Given the description of an element on the screen output the (x, y) to click on. 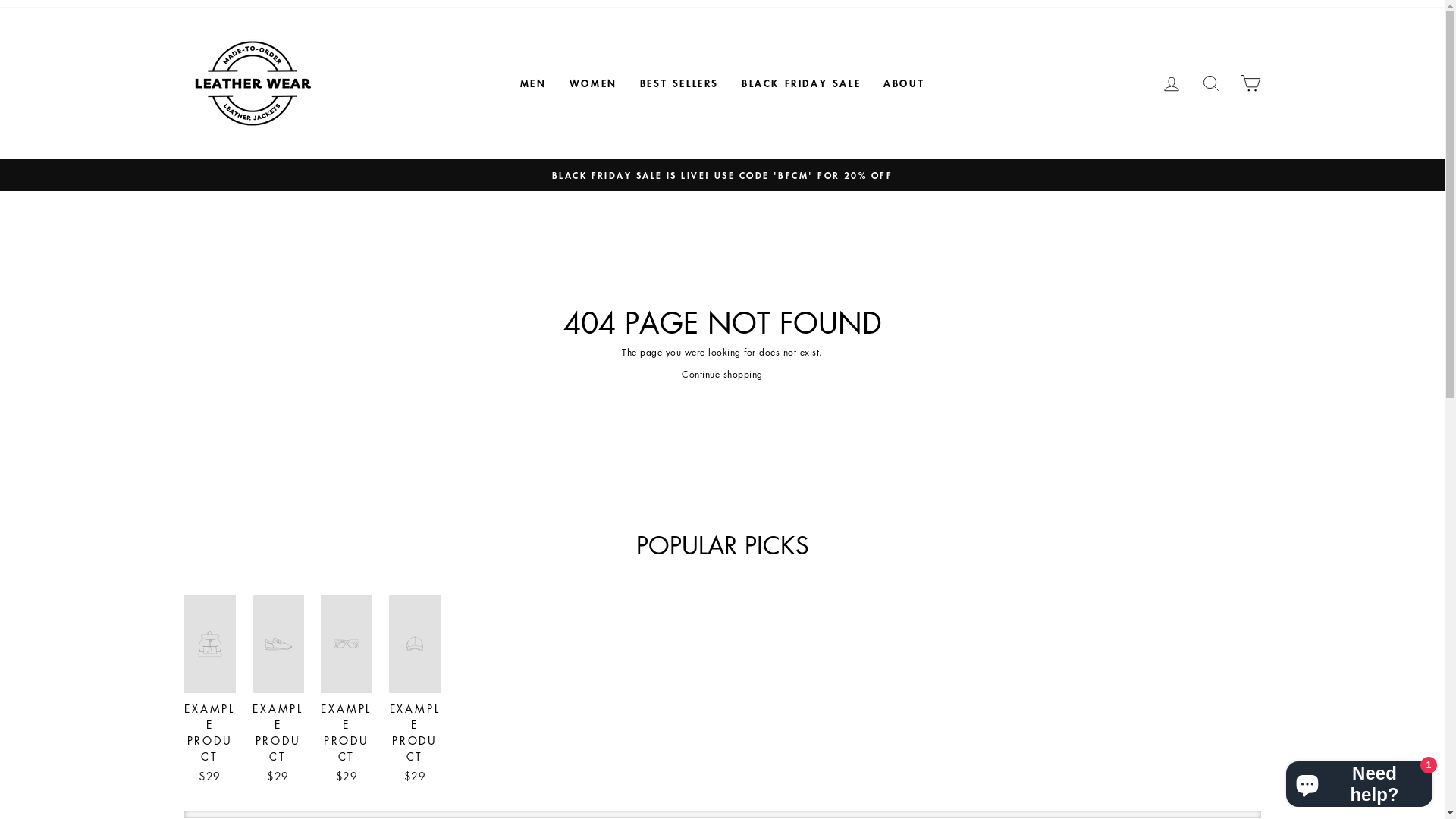
EXAMPLE PRODUCT
$29 Element type: text (414, 691)
ABOUT Element type: text (903, 83)
SEARCH Element type: text (1210, 82)
Continue shopping Element type: text (721, 374)
BLACK FRIDAY SALE Element type: text (801, 83)
EXAMPLE PRODUCT
$29 Element type: text (209, 691)
MEN Element type: text (533, 83)
CART Element type: text (1249, 82)
WOMEN Element type: text (593, 83)
LOG IN Element type: text (1170, 82)
Shopify online store chat Element type: hover (1359, 780)
EXAMPLE PRODUCT
$29 Element type: text (346, 691)
Skip to content Element type: text (0, 0)
EXAMPLE PRODUCT
$29 Element type: text (278, 691)
BEST SELLERS Element type: text (679, 83)
